Given the description of an element on the screen output the (x, y) to click on. 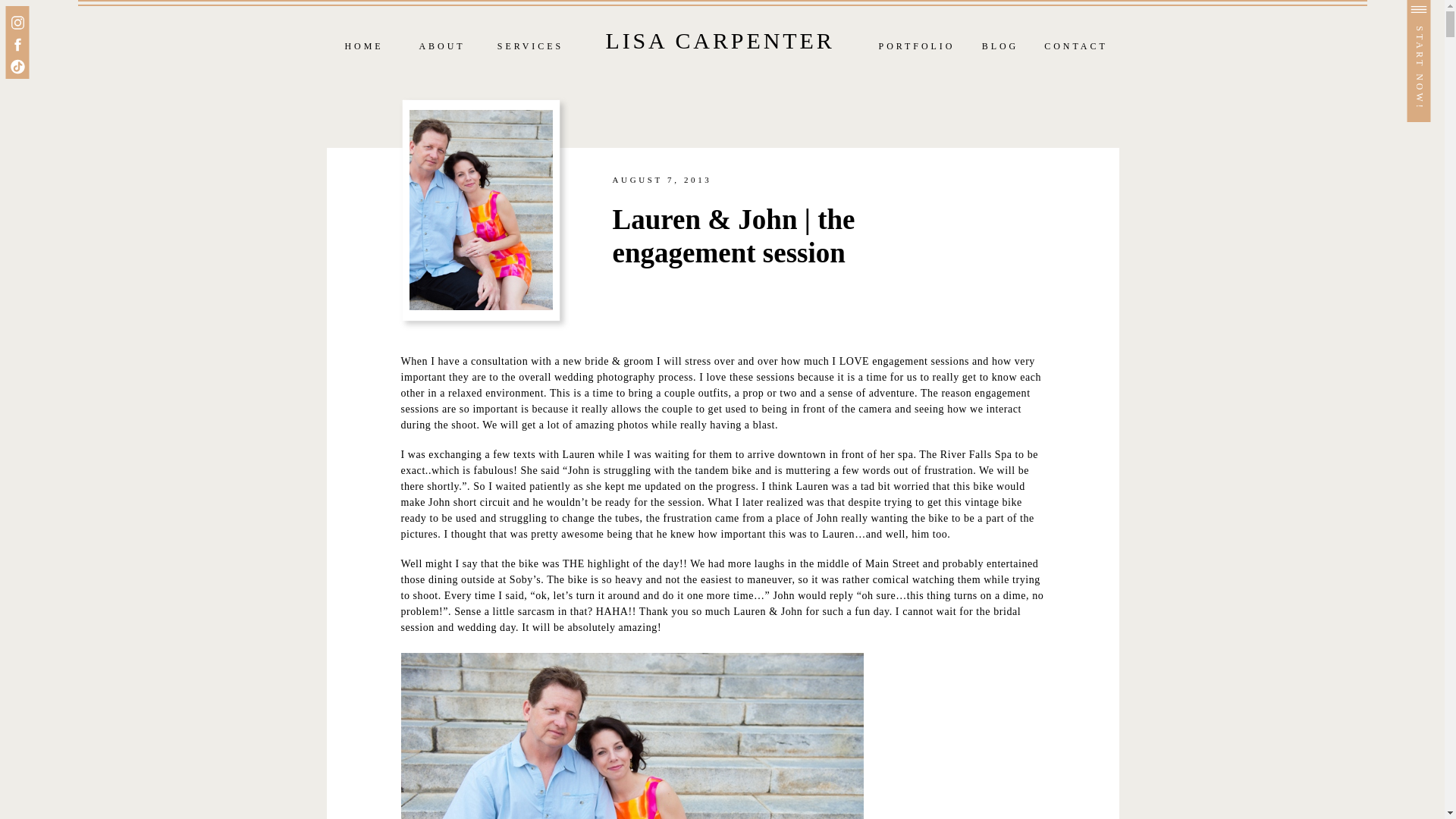
CONTACT (1076, 46)
LISA CARPENTER (719, 40)
HOME (363, 46)
ABOUT (440, 46)
PORTFOLIO (917, 46)
SERVICES (530, 46)
BLOG (999, 46)
